Given the description of an element on the screen output the (x, y) to click on. 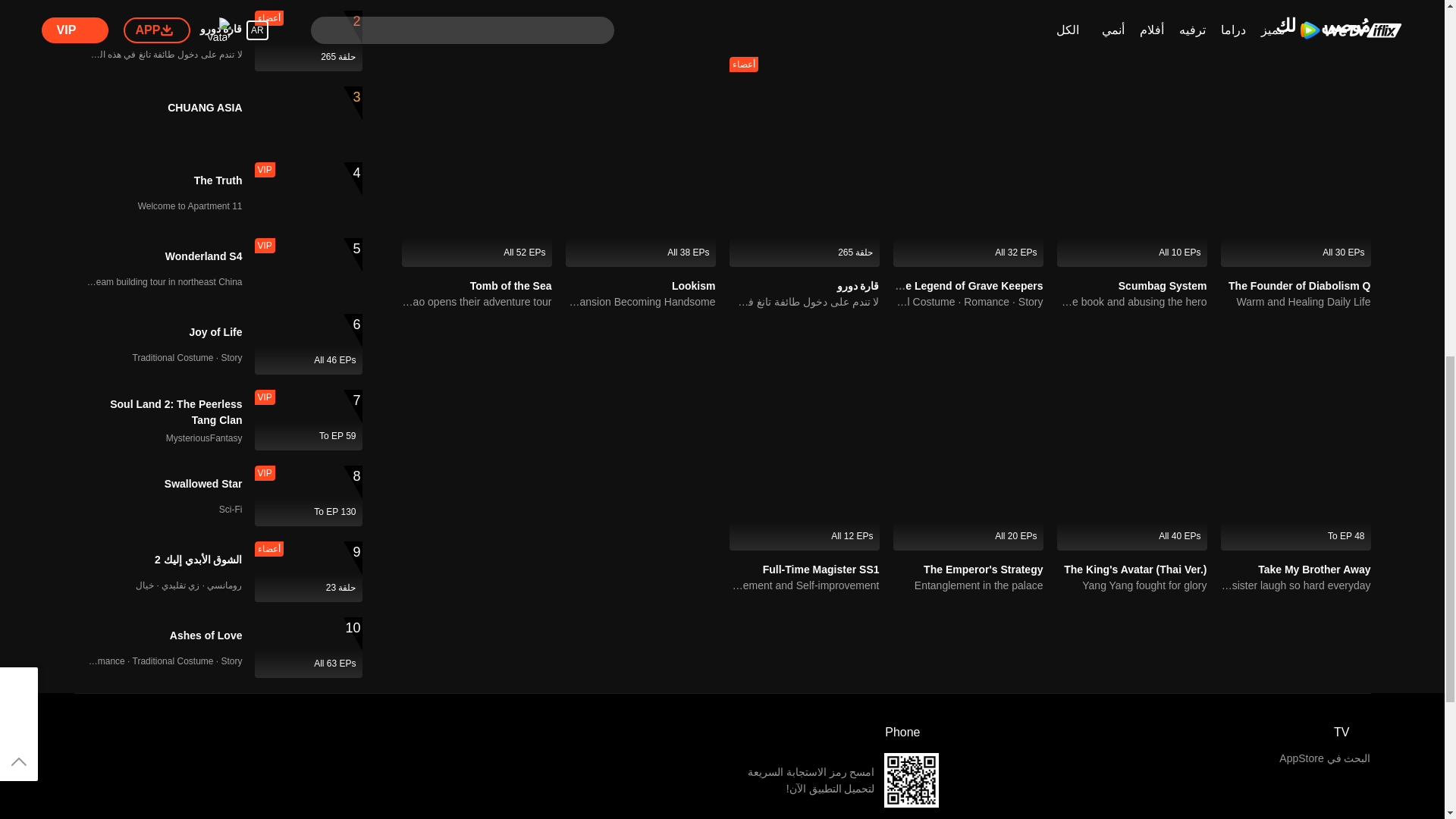
The Legend of Grave Keepers (967, 285)
Two-sided Life of Fat Mansion Becoming Handsome (641, 302)
The Emperor's Strategy (982, 569)
The Legend of Grave Keepers (967, 285)
Scumbag System (1162, 285)
Warm and Healing Daily Life (1296, 302)
Lookism (693, 285)
Take My Brother Away (1313, 569)
Take My Brother Away (1313, 569)
Tomb of the Sea (510, 285)
